Given the description of an element on the screen output the (x, y) to click on. 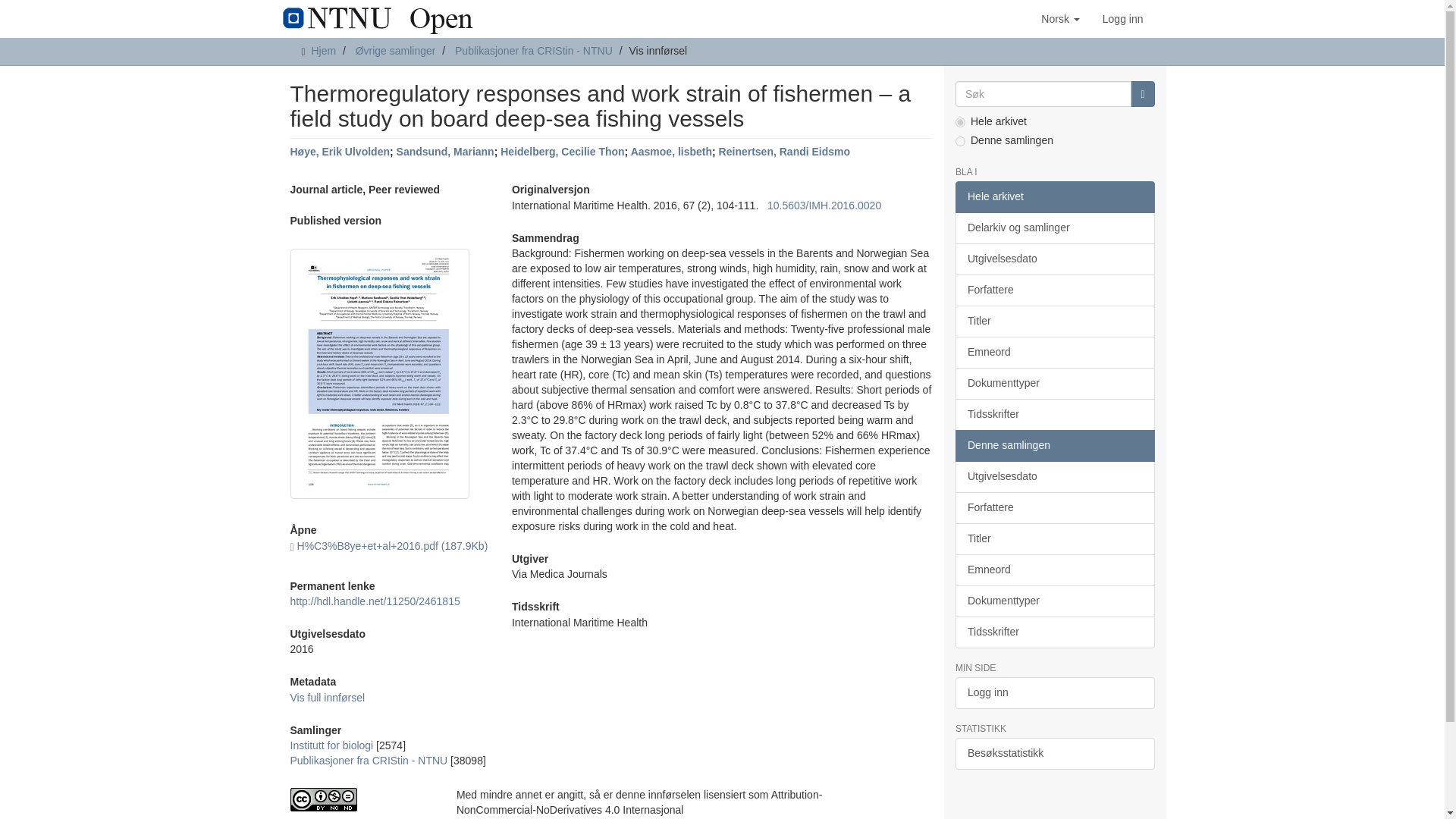
Reinertsen, Randi Eidsmo (784, 151)
Heidelberg, Cecilie Thon (562, 151)
Hele arkivet (1054, 196)
Hjem (323, 50)
Aasmoe, lisbeth (670, 151)
Sandsund, Mariann (445, 151)
Norsk  (1059, 18)
Institutt for biologi (330, 745)
Publikasjoner fra CRIStin - NTNU (367, 760)
Logg inn (1122, 18)
Publikasjoner fra CRIStin - NTNU (533, 50)
Attribution-NonCommercial-NoDerivatives 4.0 Internasjonal (360, 799)
